Given the description of an element on the screen output the (x, y) to click on. 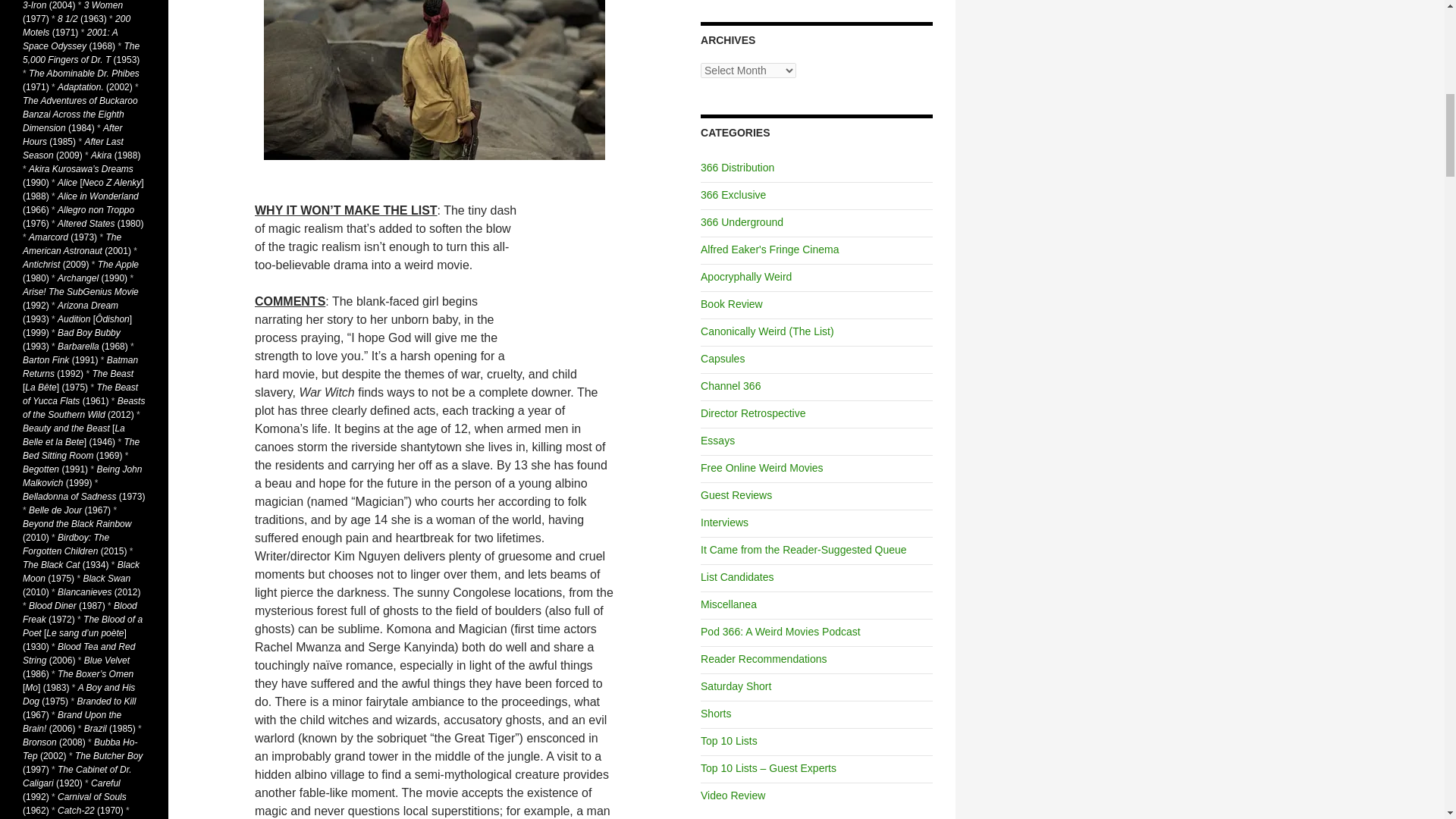
Apocryphally Weird (746, 276)
366 Exclusive (732, 194)
Alfred Eaker's Fringe Cinema (769, 249)
Book Review (731, 304)
366 Distribution (737, 167)
366 Underground (741, 222)
